Given the description of an element on the screen output the (x, y) to click on. 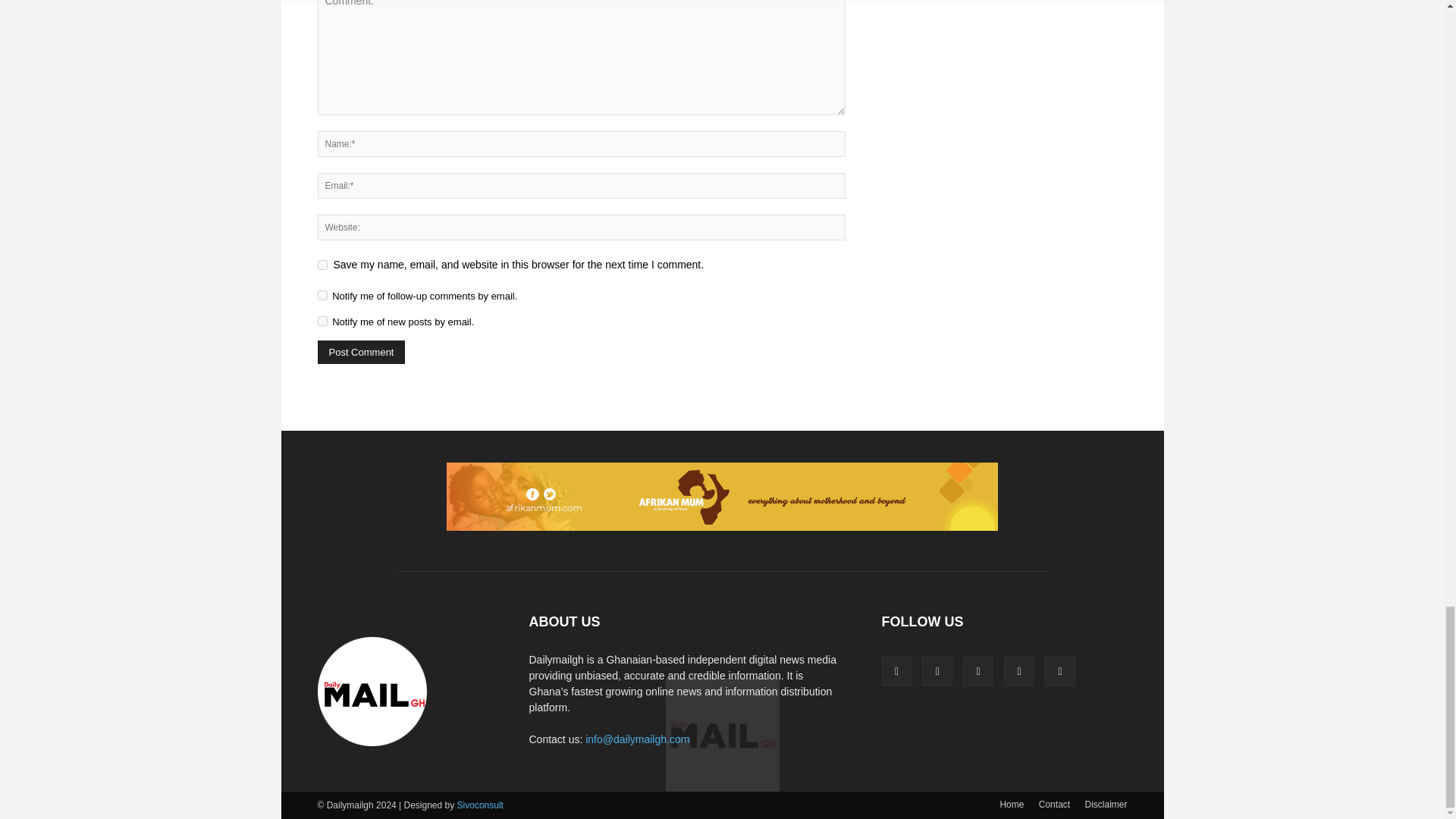
yes (321, 265)
Post Comment (360, 351)
subscribe (321, 295)
subscribe (321, 320)
